Given the description of an element on the screen output the (x, y) to click on. 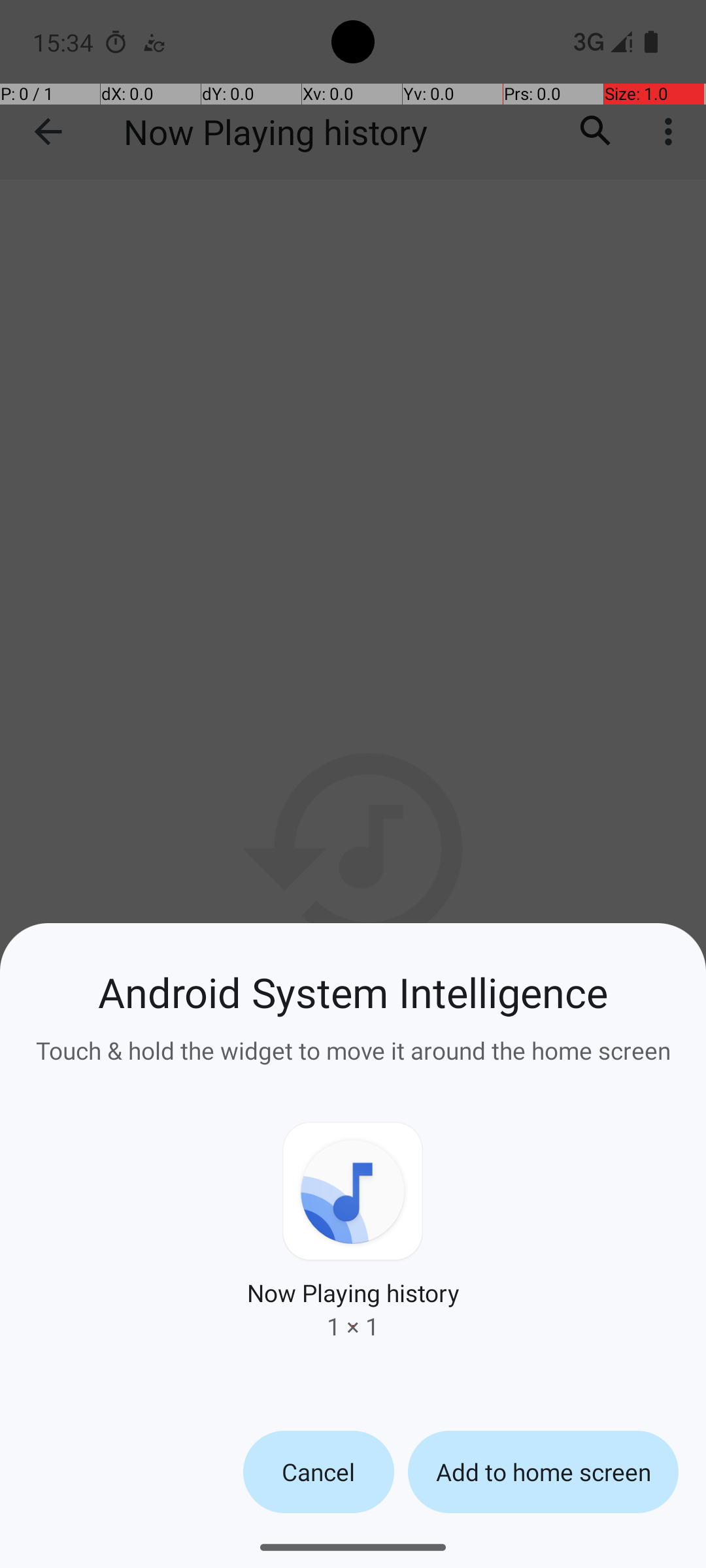
Touch & hold the widget to move it around the home screen Element type: android.widget.TextView (352, 1042)
Add to home screen Element type: android.widget.Button (542, 1471)
Now Playing history Element type: android.widget.TextView (352, 1292)
1 × 1 Element type: android.widget.TextView (352, 1325)
